Given the description of an element on the screen output the (x, y) to click on. 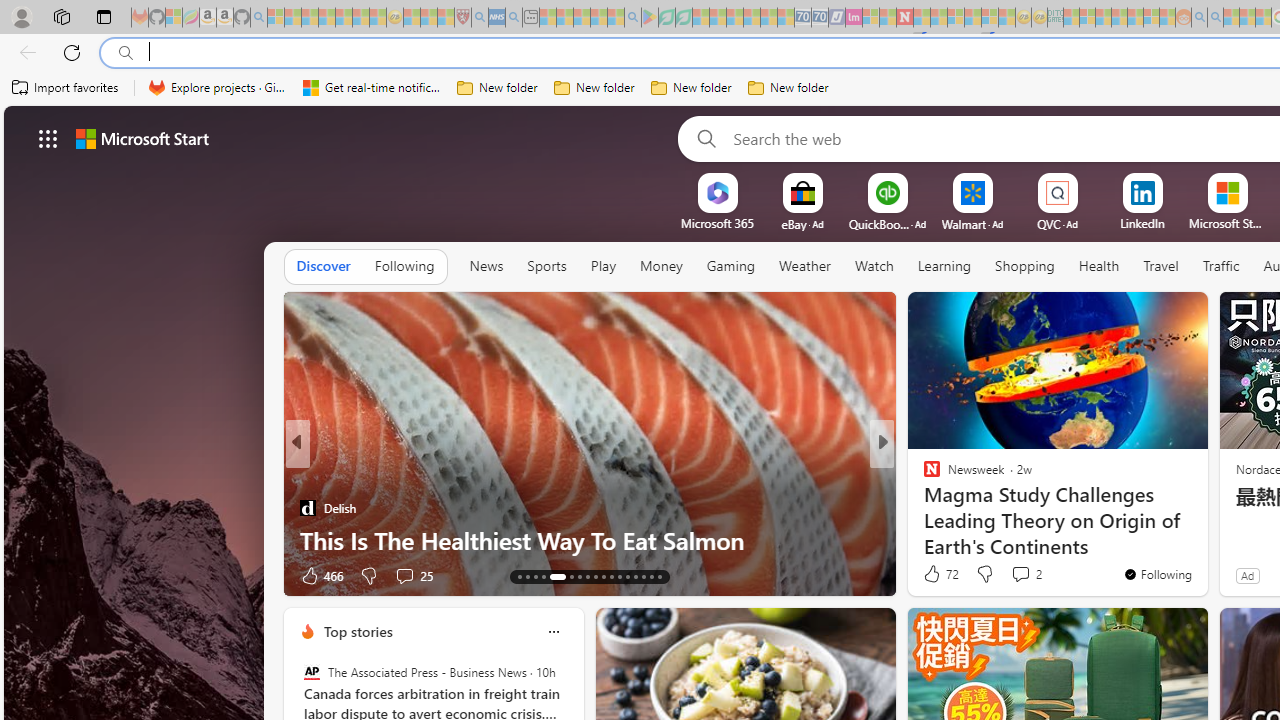
Traffic (1220, 267)
Latest Politics News & Archive | Newsweek.com - Sleeping (904, 17)
Cheap Car Rentals - Save70.com - Sleeping (802, 17)
More options (553, 631)
utah sues federal government - Search - Sleeping (513, 17)
Liron Segev (923, 507)
NCL Adult Asthma Inhaler Choice Guideline - Sleeping (497, 17)
Terms of Use Agreement - Sleeping (666, 17)
View comments 6 Comment (1026, 574)
Pets - MSN - Sleeping (598, 17)
Body Network (923, 475)
Kinda Frugal - MSN - Sleeping (1135, 17)
View comments 11 Comment (1029, 574)
